Given the description of an element on the screen output the (x, y) to click on. 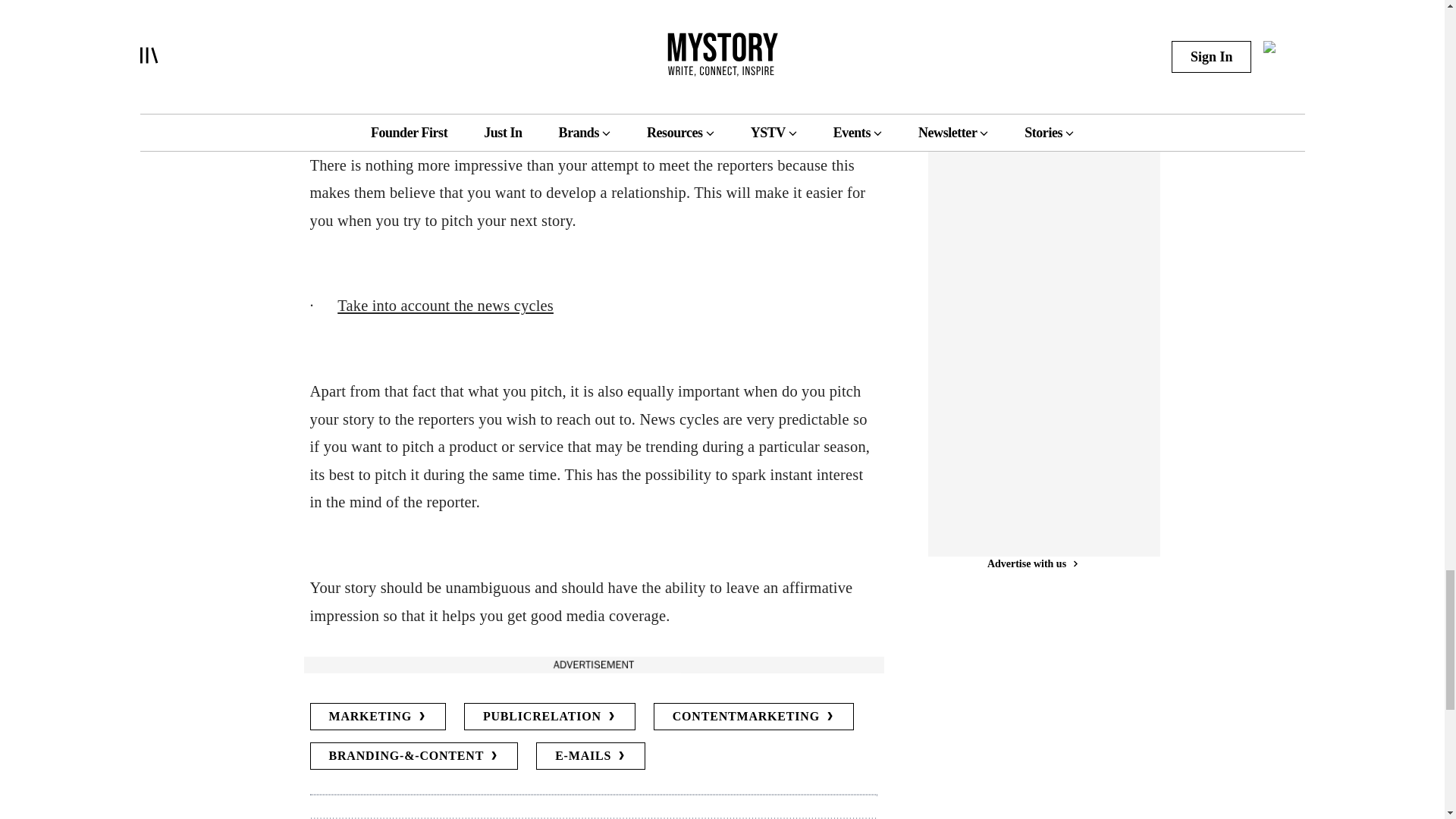
CONTENTMARKETING (753, 716)
Advertise with us (592, 664)
E-MAILS (590, 755)
MARKETING (376, 716)
PUBLICRELATION (549, 716)
